Given the description of an element on the screen output the (x, y) to click on. 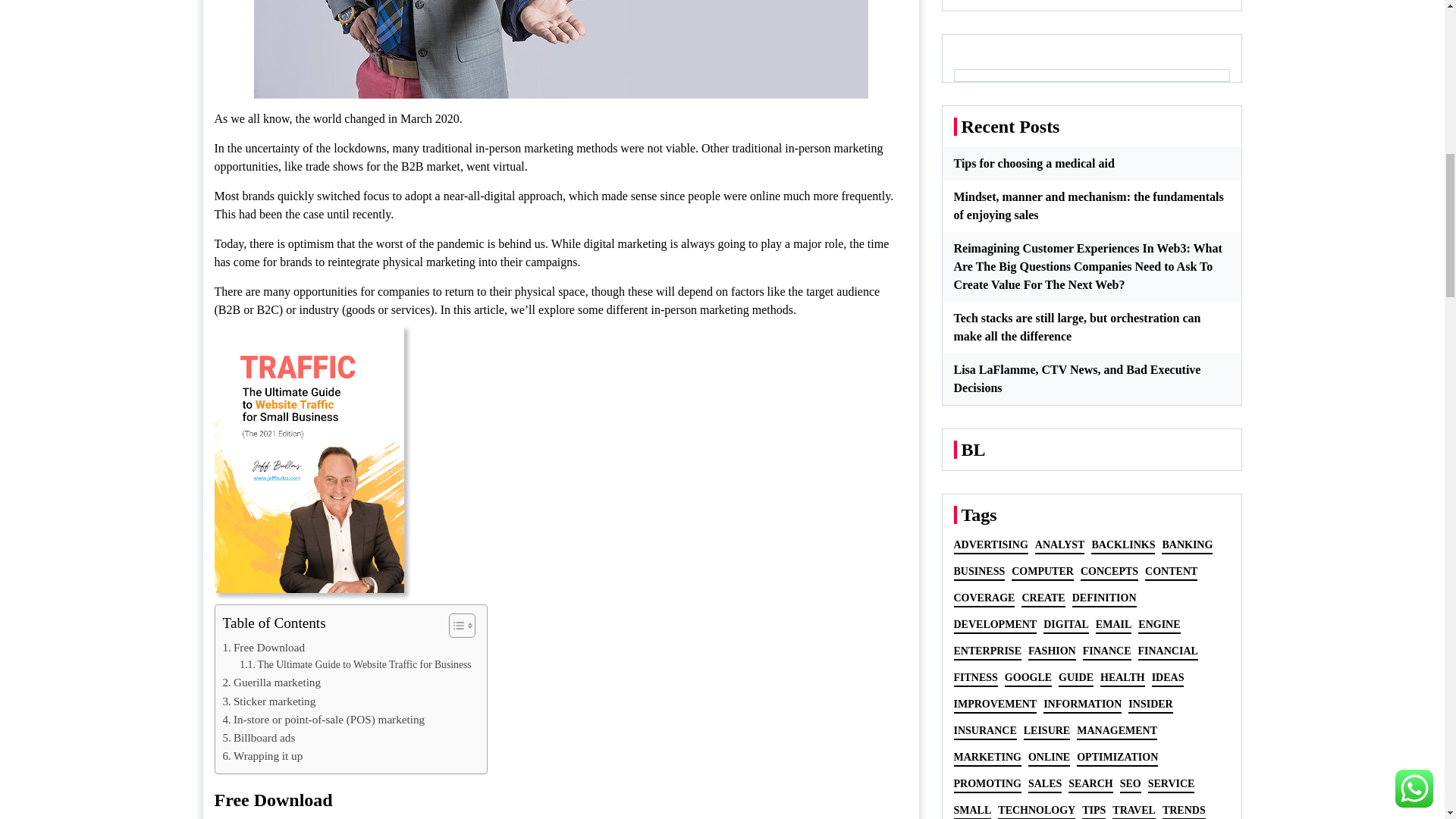
Guerilla marketing (271, 682)
Wrapping it up (262, 755)
Free Download (263, 647)
Sticker marketing (268, 701)
The Ultimate Guide to Website Traffic for Business (355, 664)
Billboard ads (258, 737)
